Given the description of an element on the screen output the (x, y) to click on. 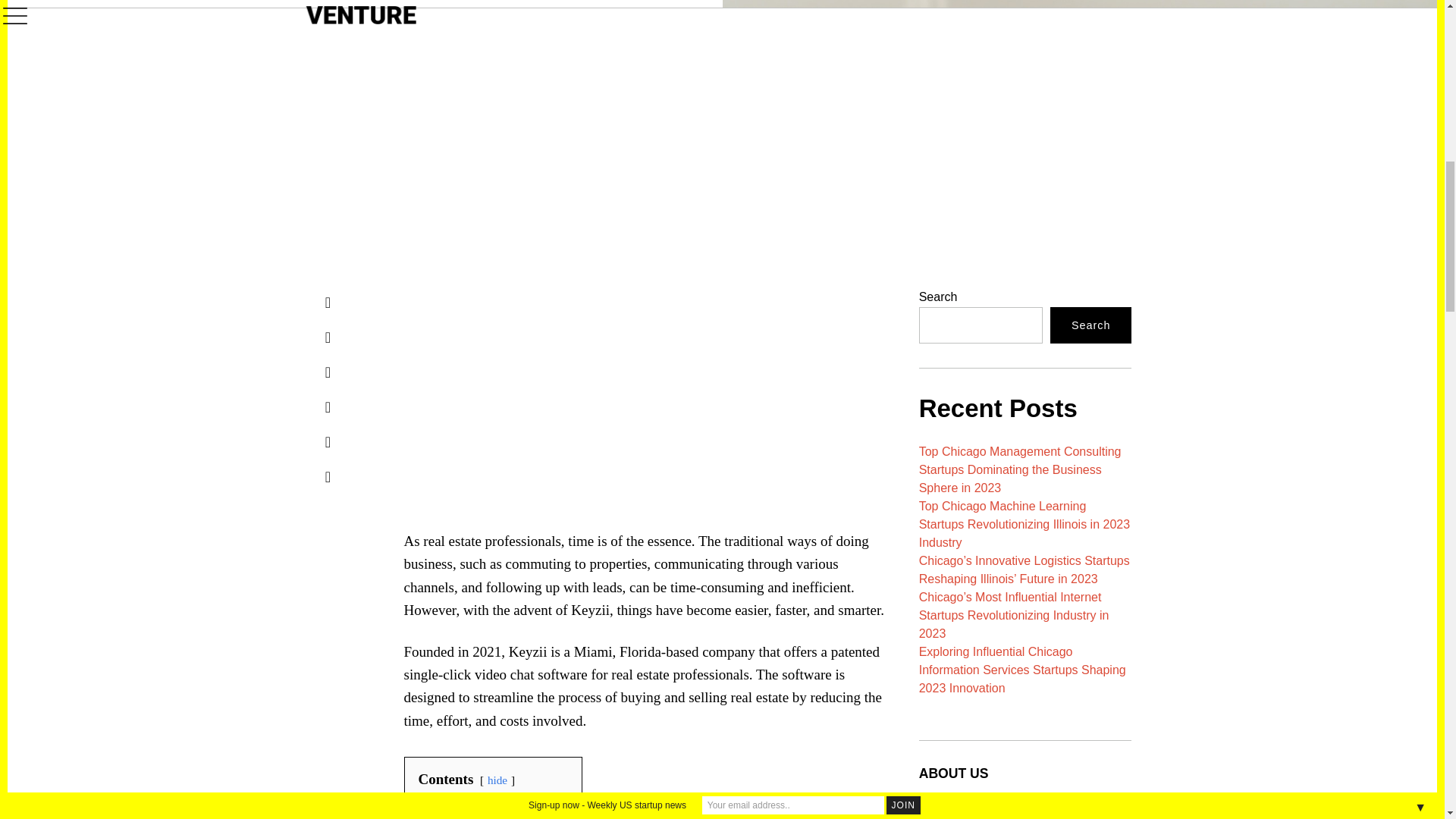
hide (496, 779)
Advertisement (708, 393)
1 The Keyzii Difference (482, 806)
Search (1090, 325)
